Given the description of an element on the screen output the (x, y) to click on. 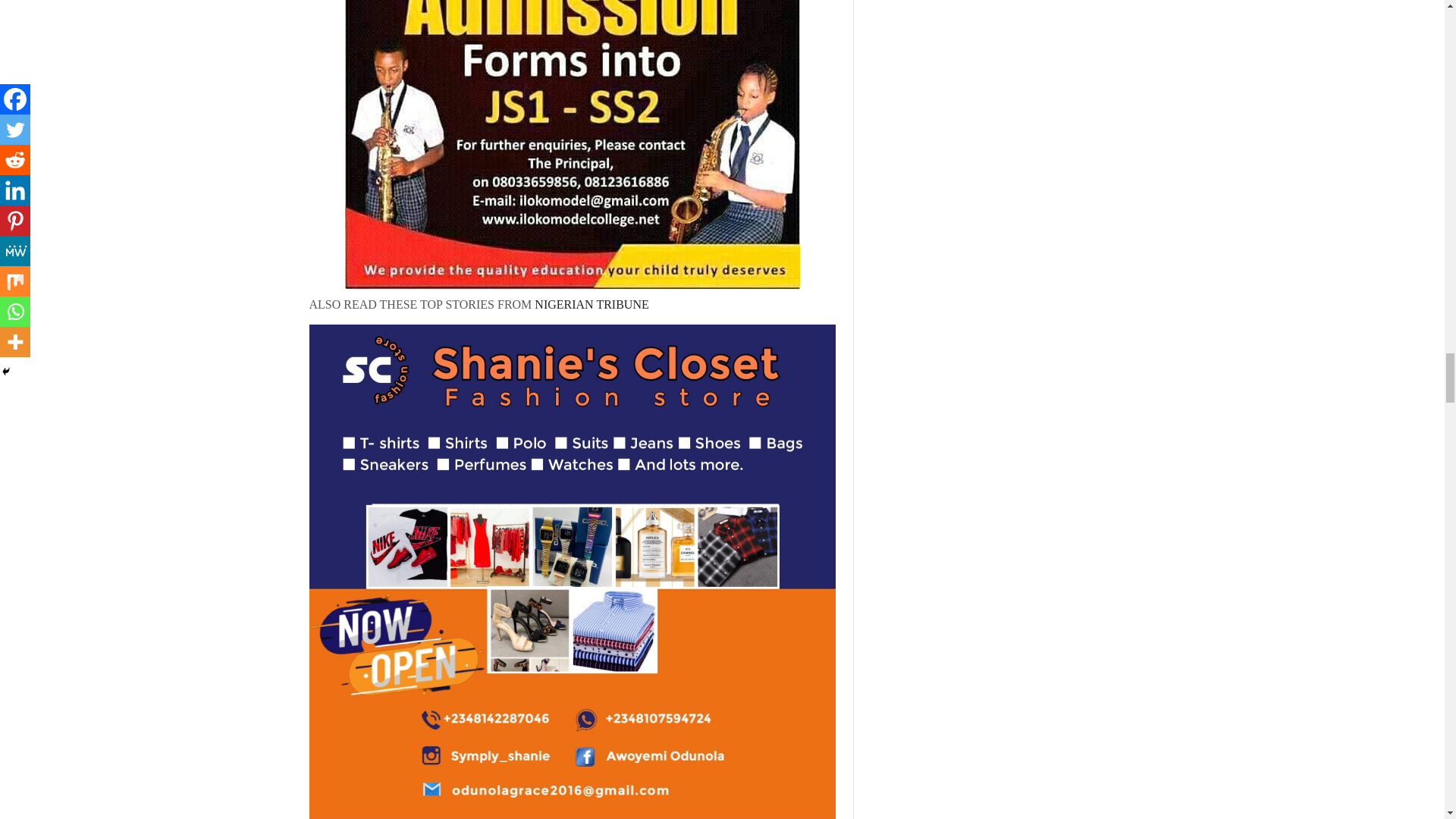
NIGERIAN TRIBUNE (589, 304)
